Given the description of an element on the screen output the (x, y) to click on. 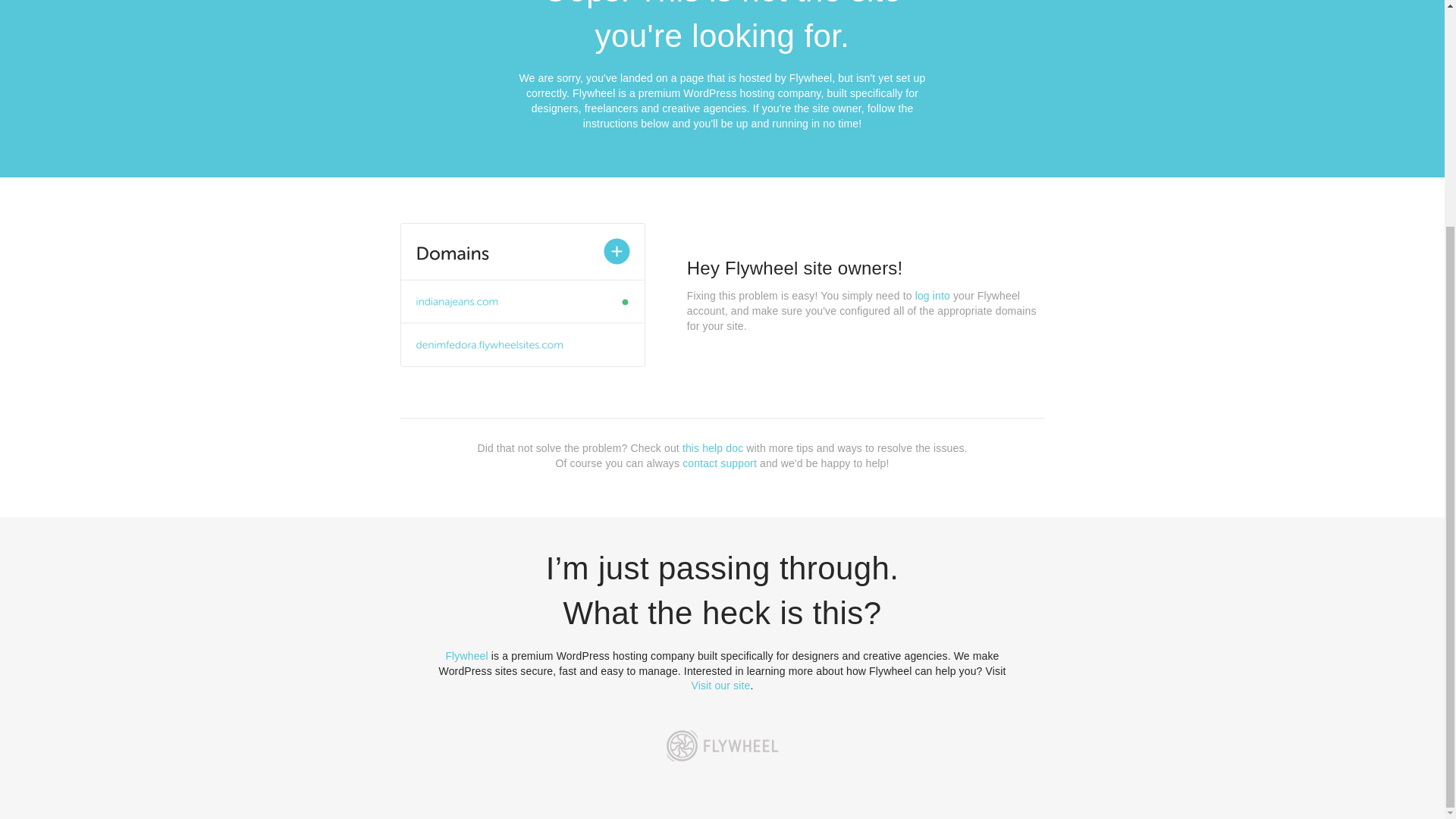
Flywheel (466, 655)
log into (932, 295)
contact support (719, 463)
this help doc (712, 448)
Visit our site (721, 685)
